Given the description of an element on the screen output the (x, y) to click on. 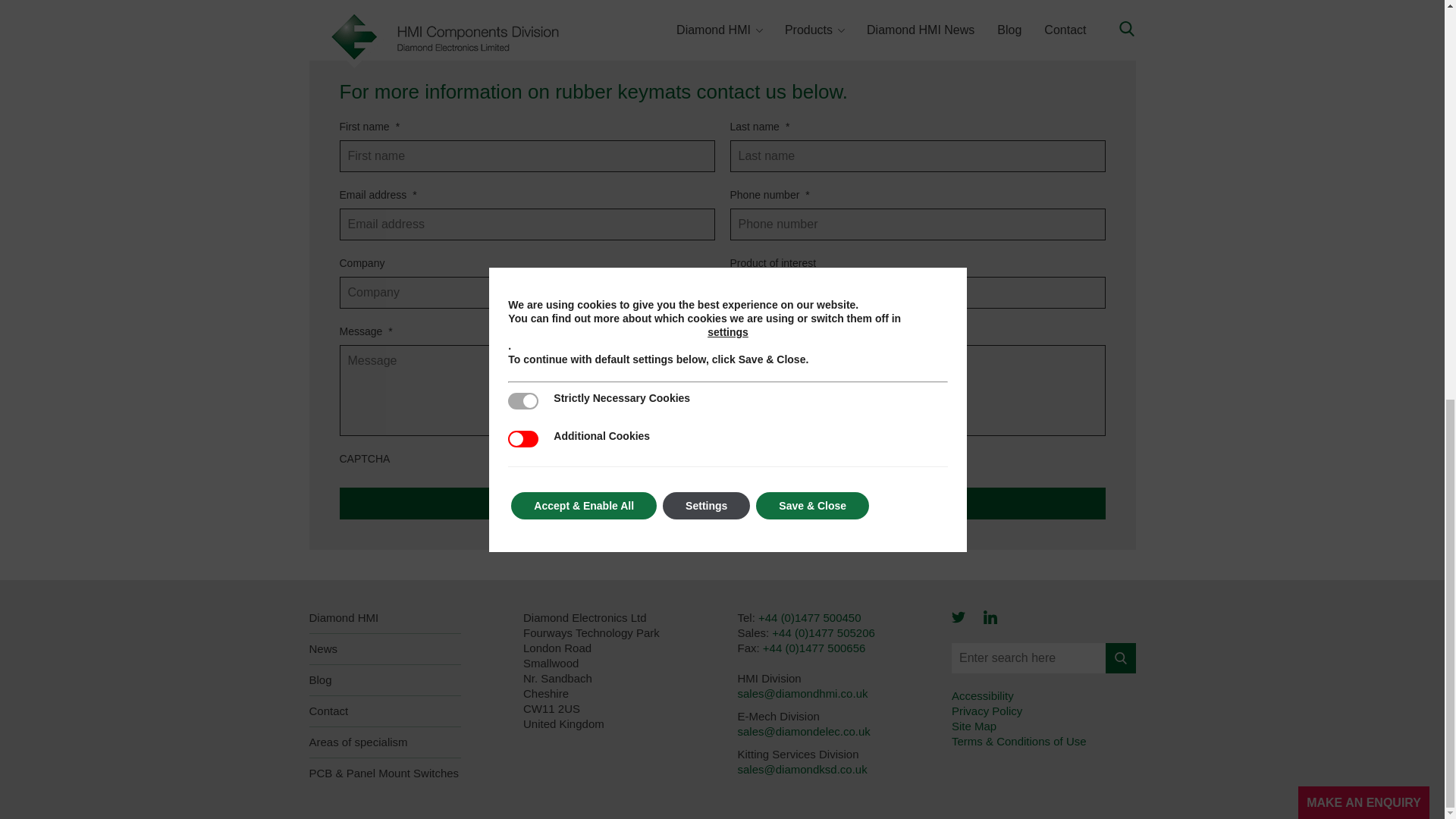
Rubber Keymats (917, 292)
